Given the description of an element on the screen output the (x, y) to click on. 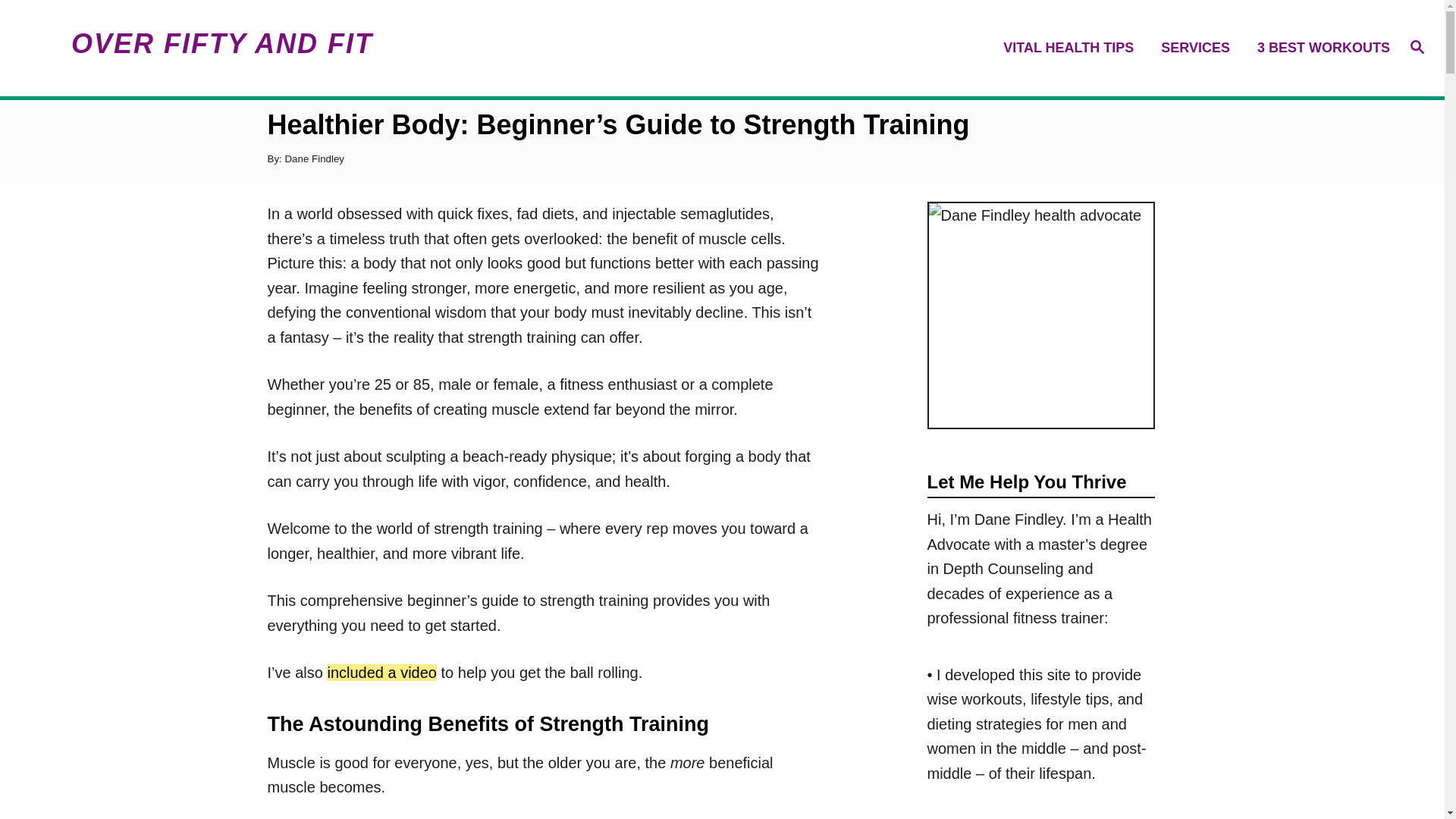
Over Fifty and Fit (194, 48)
OVER FIFTY AND FIT (194, 48)
Magnifying Glass (1416, 46)
3 BEST WORKOUTS (1318, 47)
Dane Findley (313, 158)
SERVICES (1199, 47)
VITAL HEALTH TIPS (1072, 47)
